Given the description of an element on the screen output the (x, y) to click on. 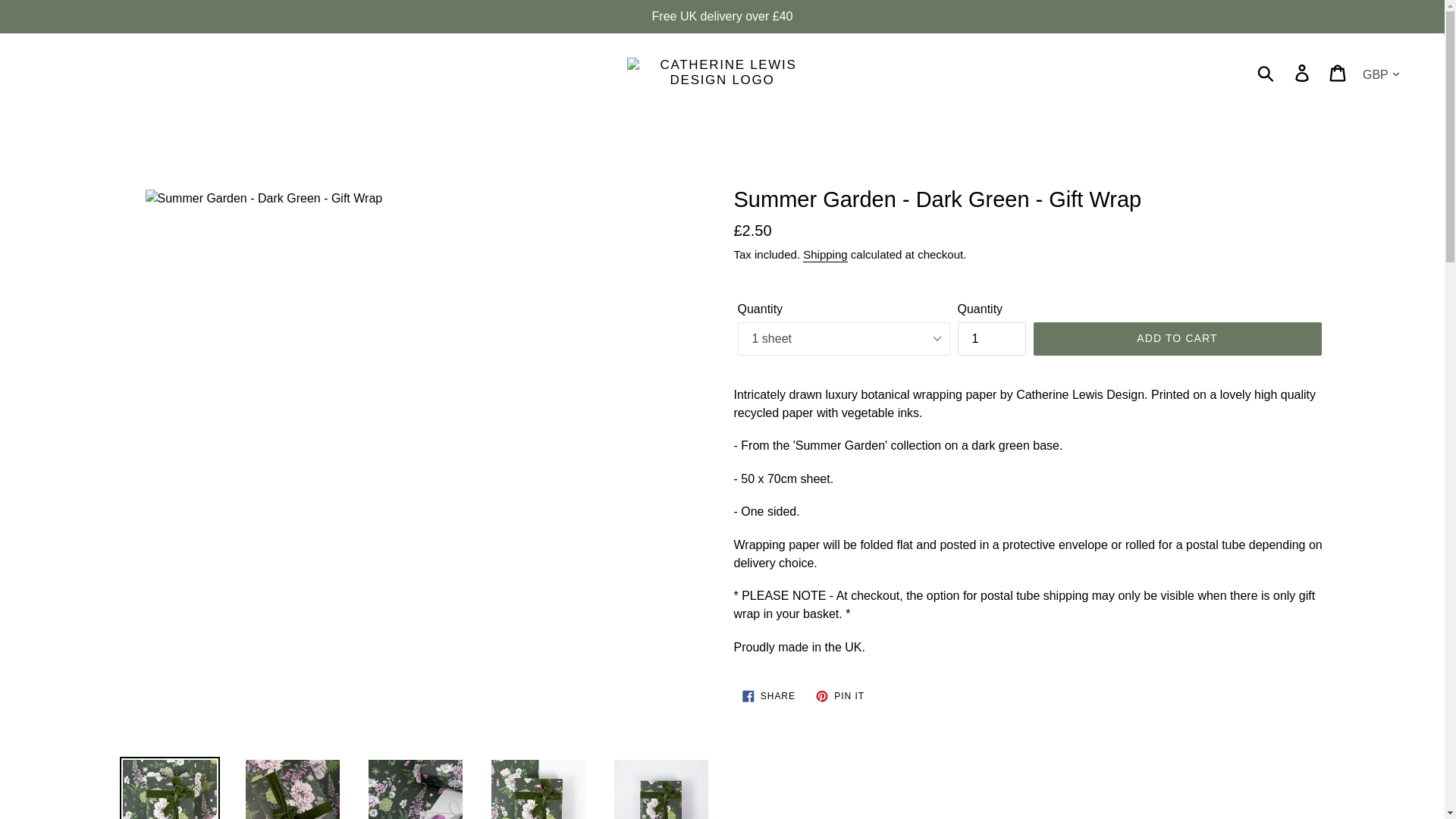
Cart (1338, 72)
Submit (1266, 72)
Shipping (840, 696)
Log in (825, 255)
ADD TO CART (1302, 72)
1 (1176, 338)
